Given the description of an element on the screen output the (x, y) to click on. 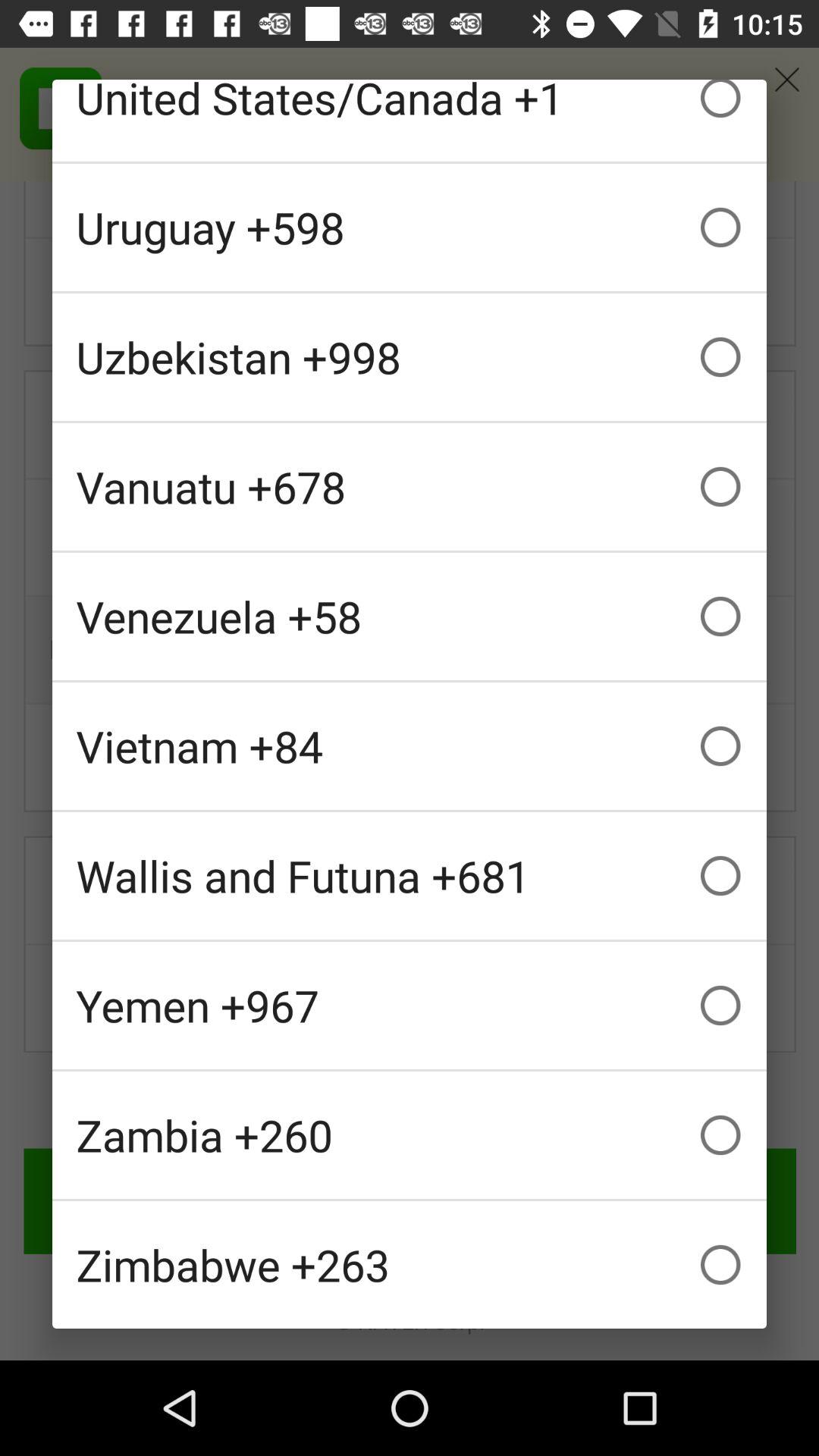
press the icon below the united states canada checkbox (409, 227)
